Given the description of an element on the screen output the (x, y) to click on. 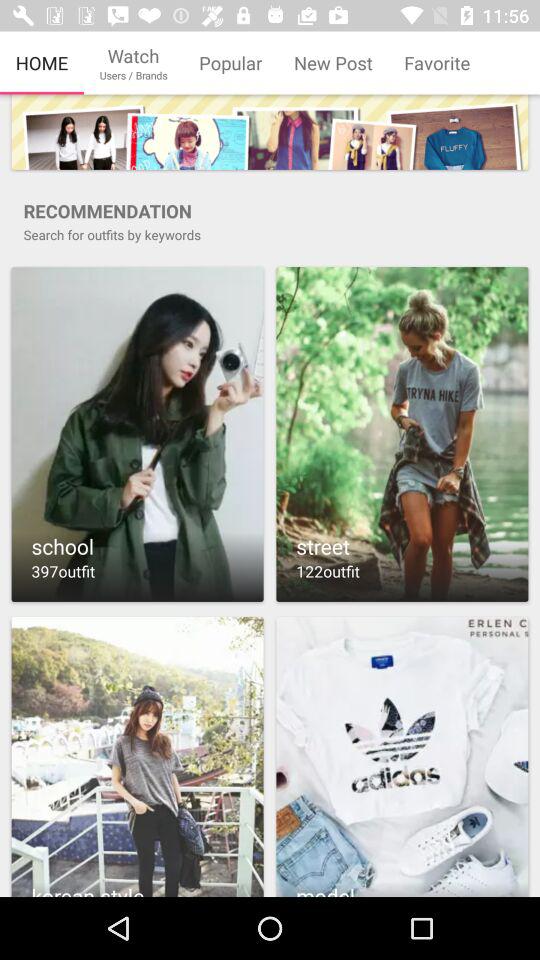
go to school outfits (137, 434)
